Given the description of an element on the screen output the (x, y) to click on. 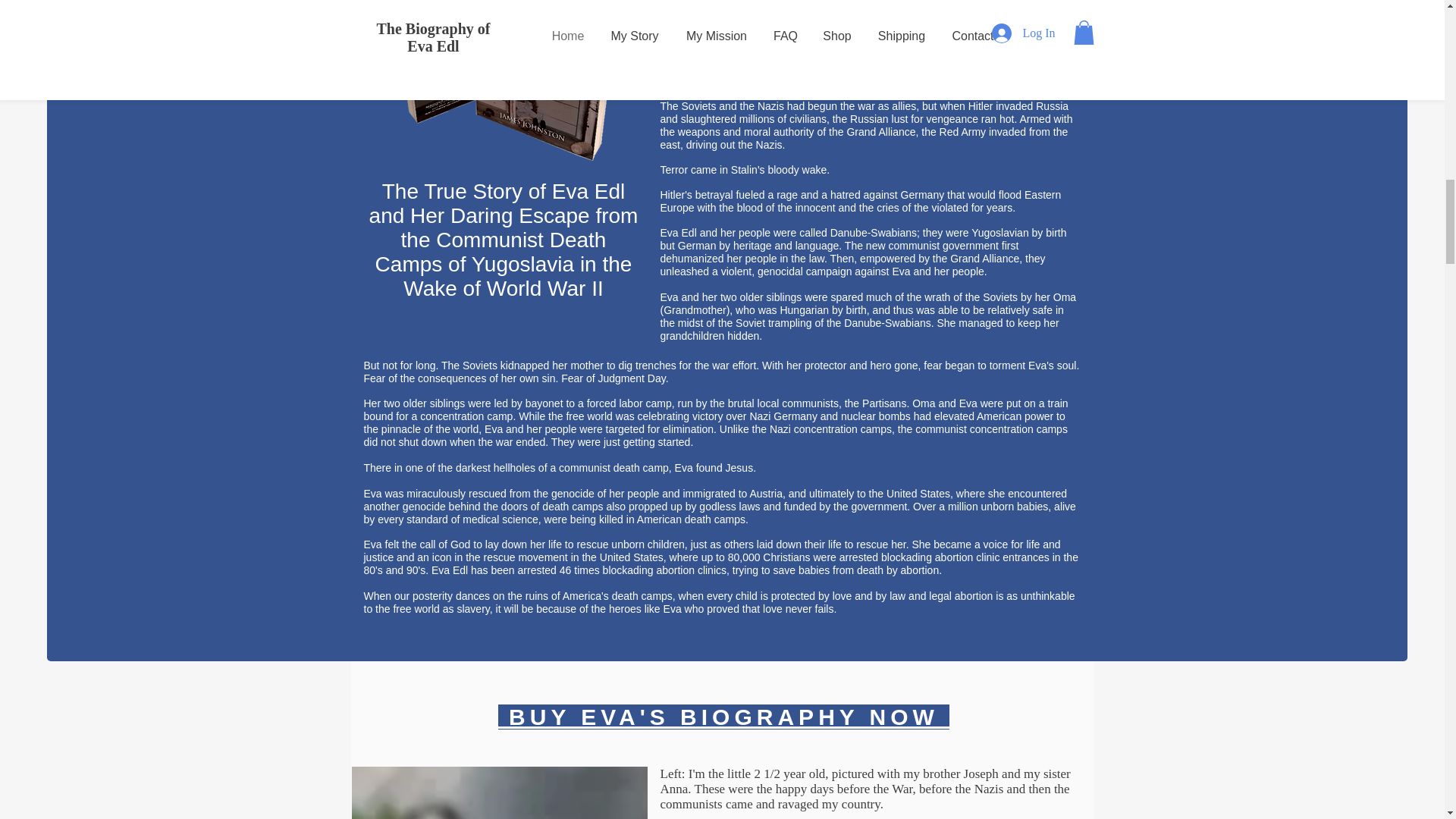
 BUY EVA'S BIOGRAPHY NOW  (723, 716)
